Given the description of an element on the screen output the (x, y) to click on. 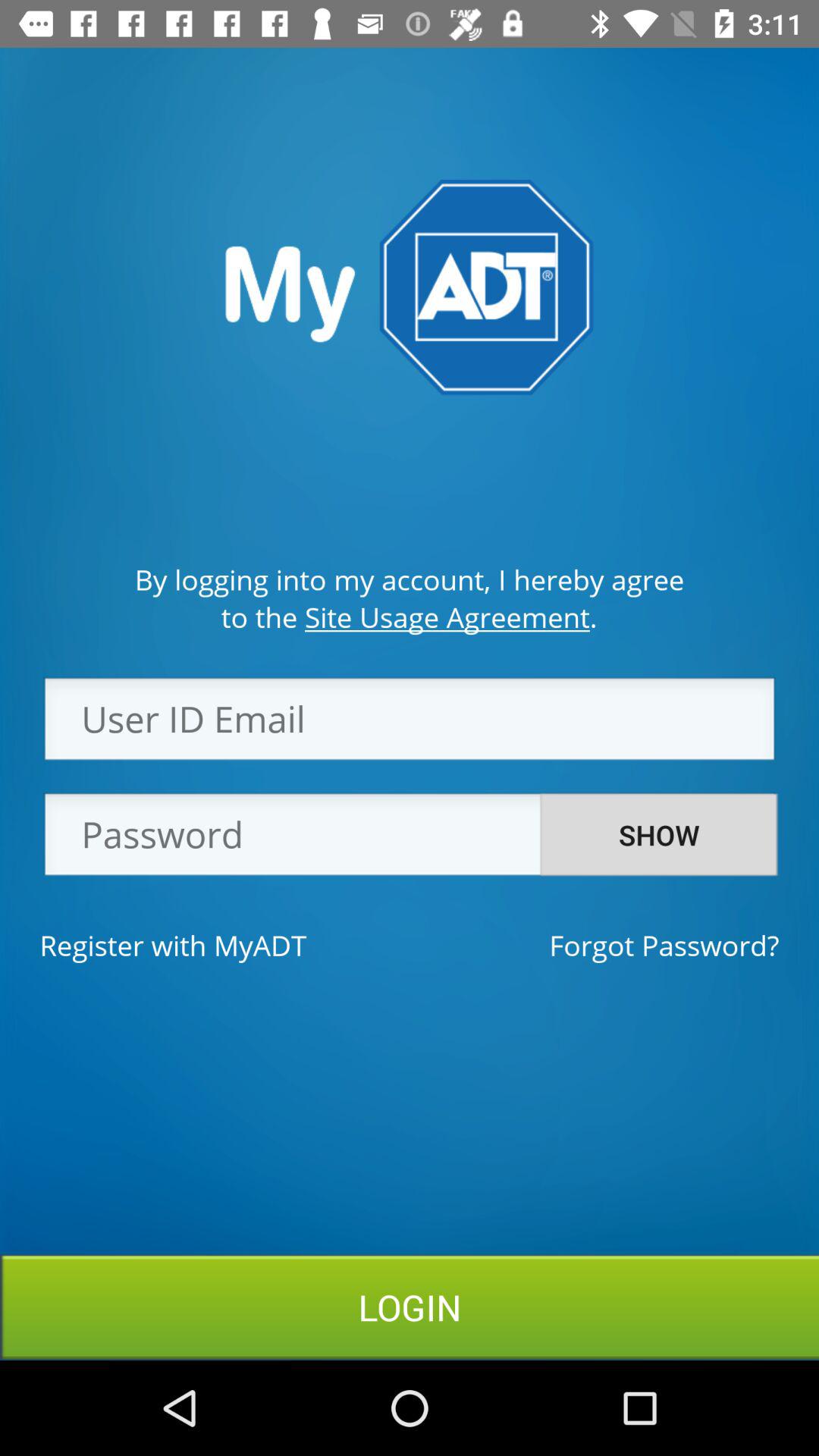
swipe until show (659, 835)
